Given the description of an element on the screen output the (x, y) to click on. 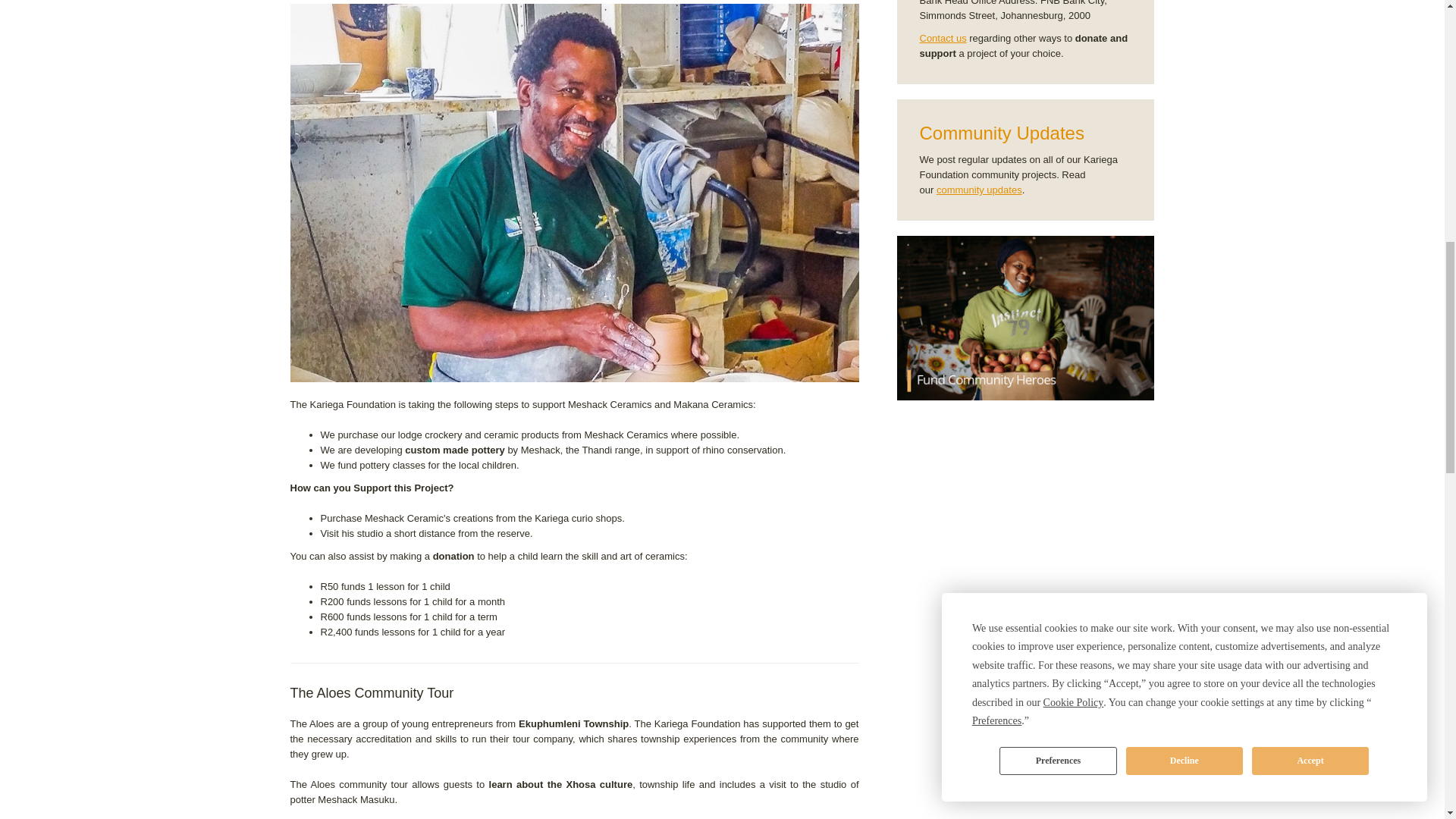
Community Updates (979, 189)
